Given the description of an element on the screen output the (x, y) to click on. 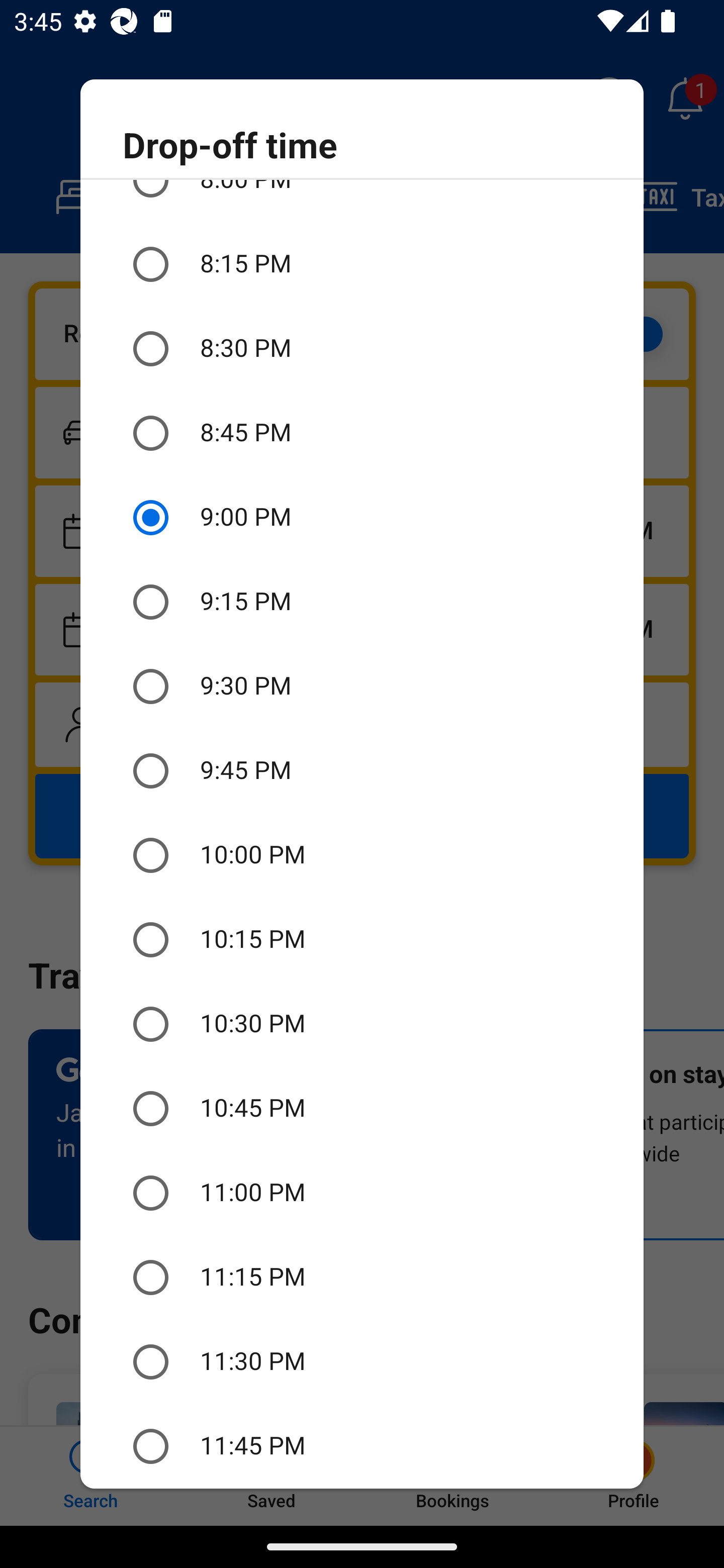
8:15 PM (361, 264)
8:30 PM (361, 348)
8:45 PM (361, 432)
9:00 PM (361, 517)
9:15 PM (361, 601)
9:30 PM (361, 686)
9:45 PM (361, 771)
10:00 PM (361, 854)
10:15 PM (361, 938)
10:30 PM (361, 1023)
10:45 PM (361, 1108)
11:00 PM (361, 1192)
11:15 PM (361, 1277)
11:30 PM (361, 1362)
11:45 PM (361, 1446)
